Given the description of an element on the screen output the (x, y) to click on. 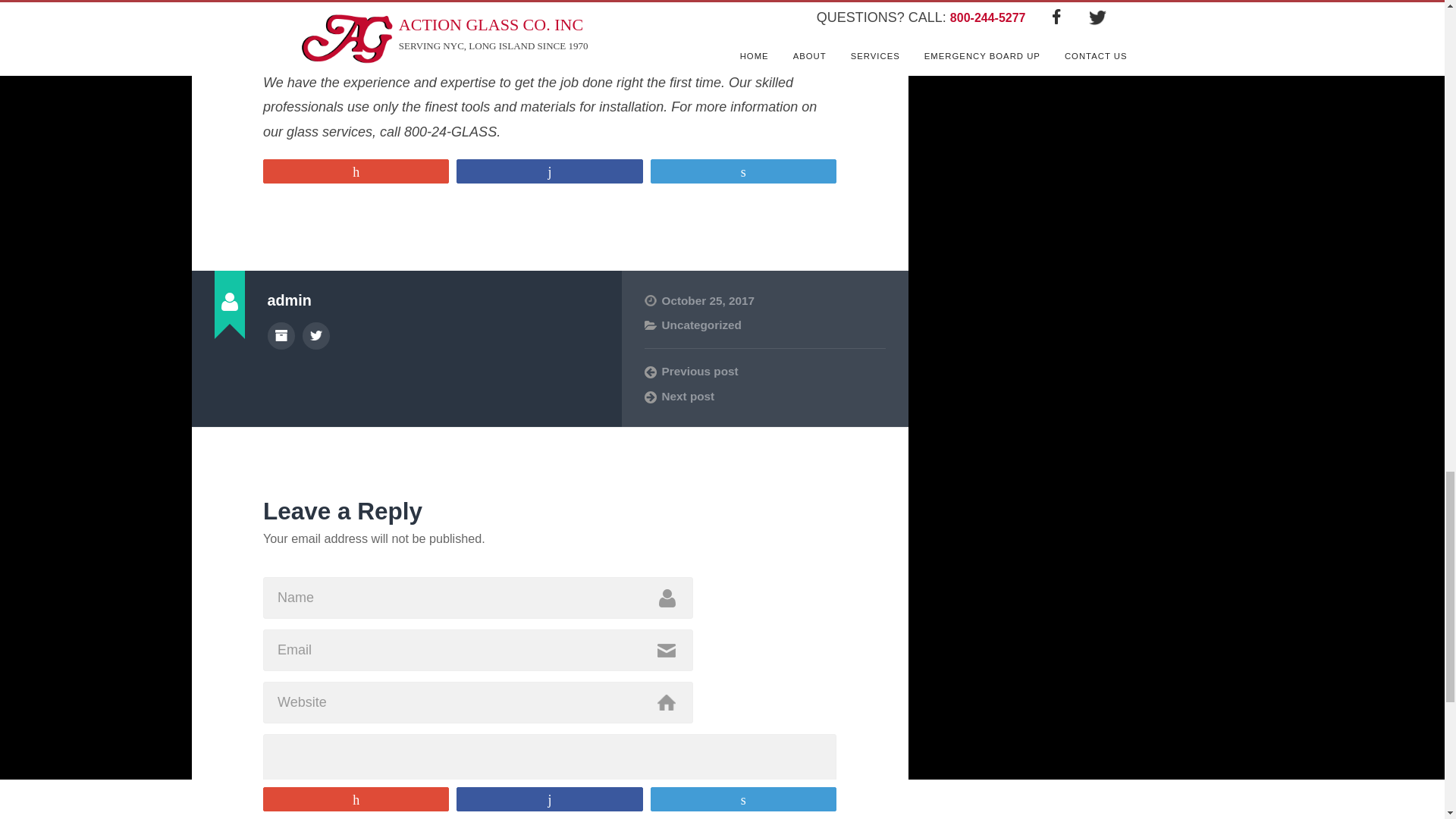
Next post (765, 396)
Author archive (280, 335)
Uncategorized (701, 324)
Author archive (280, 335)
Previous post (765, 371)
Action Glass Co., Inc. (542, 45)
Next post: The Short History Of Stained Glass Windows (765, 396)
Contact (532, 32)
frosted glass windows (431, 32)
